Given the description of an element on the screen output the (x, y) to click on. 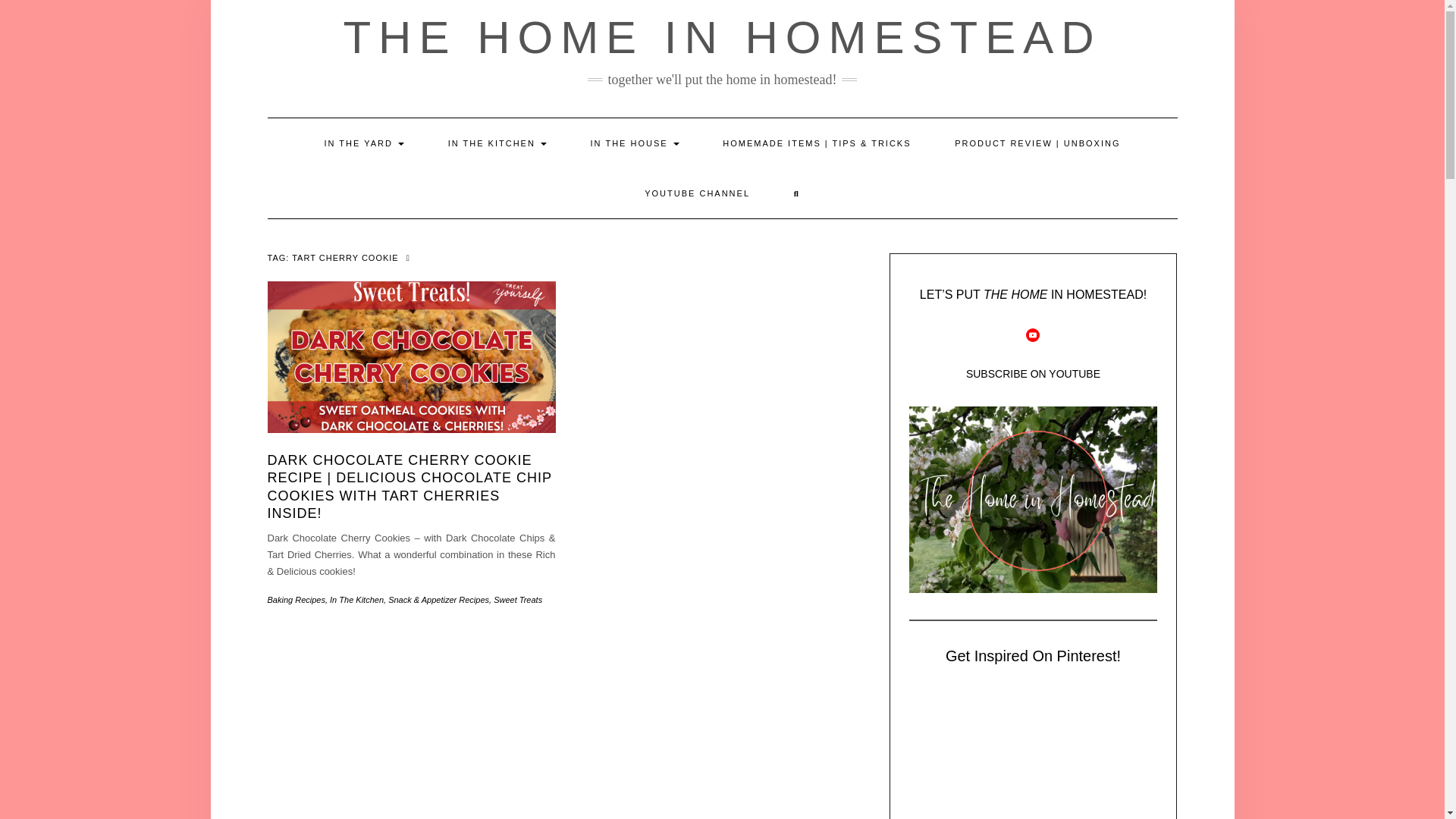
YOUTUBE (1032, 335)
The Home in Homestead (1032, 755)
Sweet Treats (517, 599)
IN THE HOUSE (635, 142)
IN THE YARD (364, 142)
In The Kitchen (357, 599)
THE HOME IN HOMESTEAD (721, 37)
IN THE KITCHEN (497, 142)
YOUTUBE CHANNEL (697, 193)
Baking Recipes (295, 599)
